Given the description of an element on the screen output the (x, y) to click on. 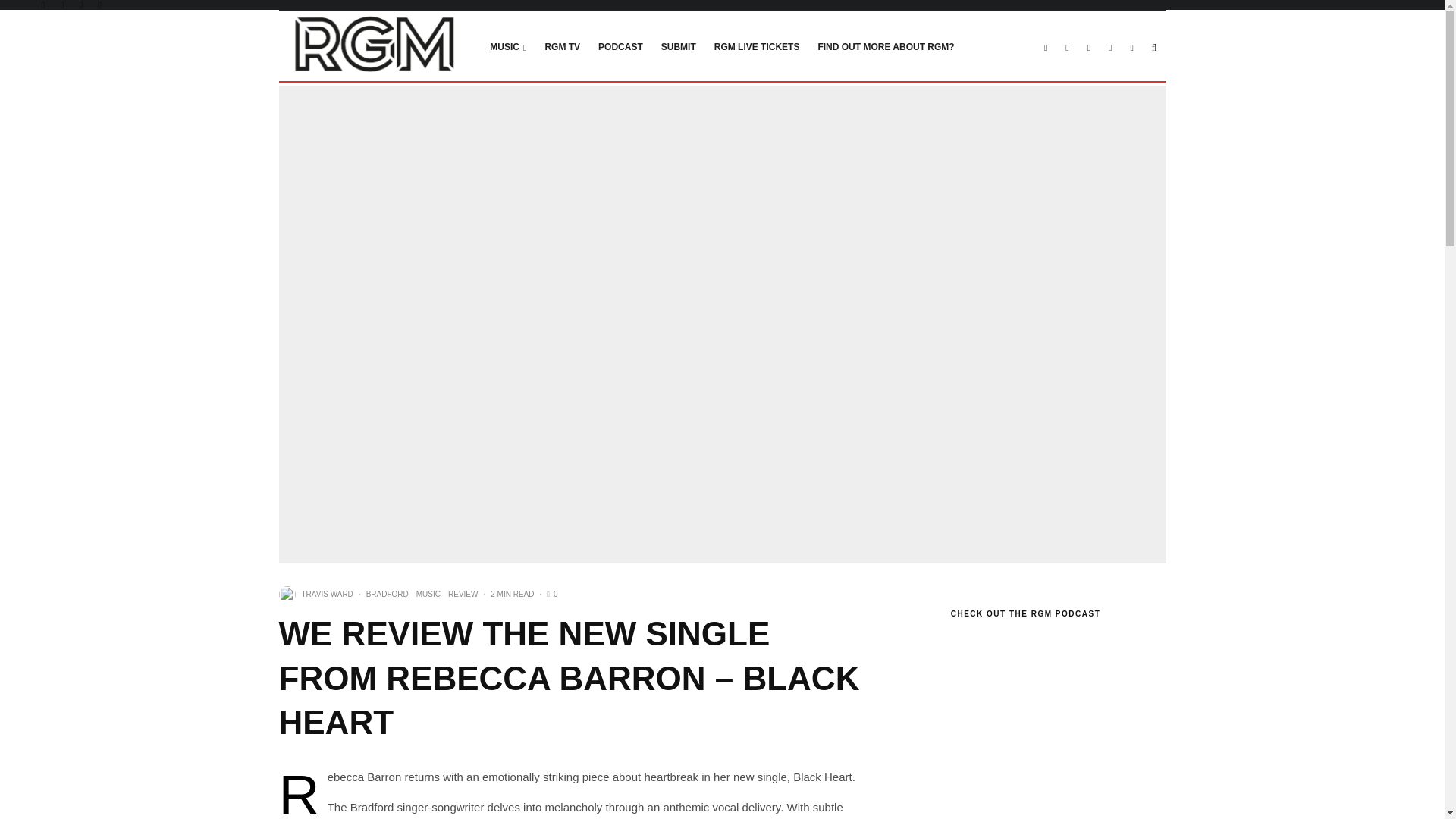
BRADFORD (387, 594)
FIND OUT MORE ABOUT RGM? (885, 45)
RGM LIVE TICKETS (756, 45)
PODCAST (620, 45)
TRAVIS WARD (327, 593)
